Given the description of an element on the screen output the (x, y) to click on. 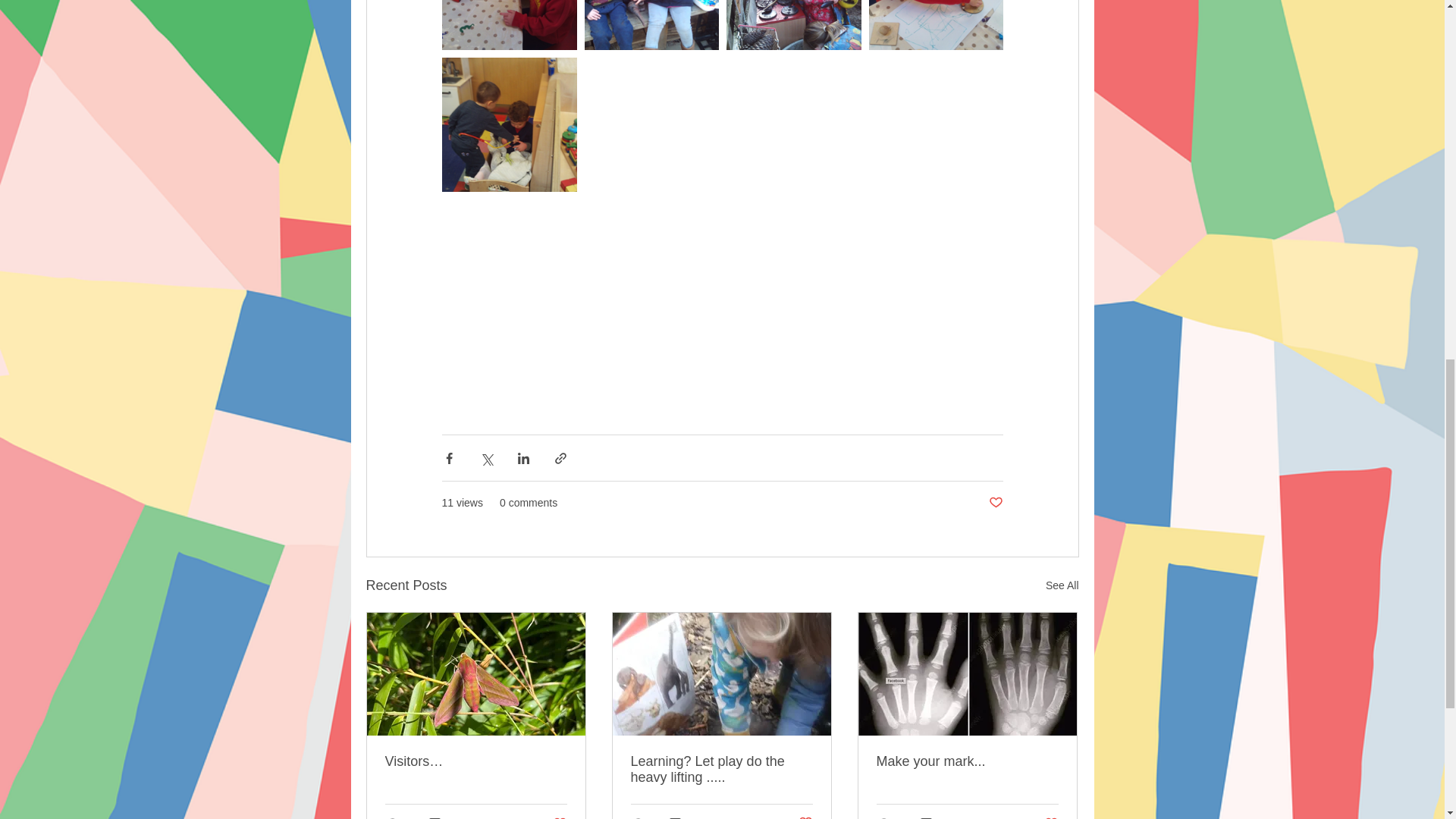
Make your mark... (967, 761)
Post not marked as liked (995, 503)
Learning? Let play do the heavy lifting ..... (721, 769)
0 (440, 817)
0 (931, 817)
See All (1061, 585)
0 (1046, 817)
Post not marked as liked (681, 817)
